Given the description of an element on the screen output the (x, y) to click on. 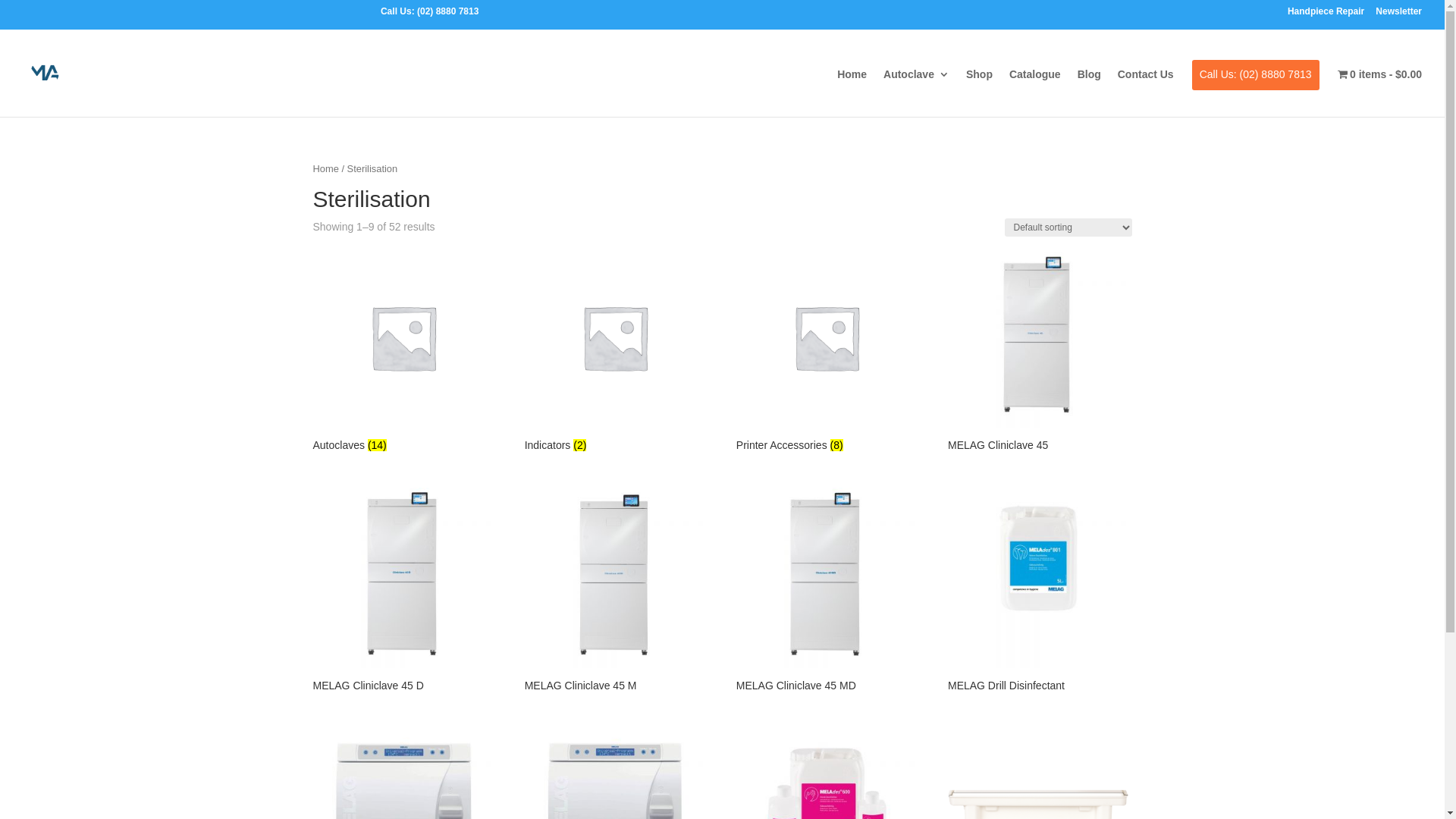
Handpiece Repair Element type: text (1325, 14)
Catalogue Element type: text (1034, 86)
Newsletter Element type: text (1398, 14)
MELAG Cliniclave 45 Element type: text (1037, 351)
Call Us: (02) 8880 7813 Element type: text (1255, 85)
MELAG Cliniclave 45 M Element type: text (614, 591)
MELAG Drill Disinfectant Element type: text (1037, 591)
Autoclave Element type: text (916, 86)
(02) 8880 7813 Element type: text (446, 11)
0 items$0.00 Element type: text (1379, 86)
Blog Element type: text (1089, 86)
Home Element type: text (325, 168)
Indicators (2) Element type: text (614, 351)
MELAG Cliniclave 45 D Element type: text (402, 591)
Shop Element type: text (979, 86)
MELAG Cliniclave 45 MD Element type: text (826, 591)
Printer Accessories (8) Element type: text (826, 351)
Contact Us Element type: text (1145, 86)
Home Element type: text (851, 86)
Autoclaves (14) Element type: text (402, 351)
